Given the description of an element on the screen output the (x, y) to click on. 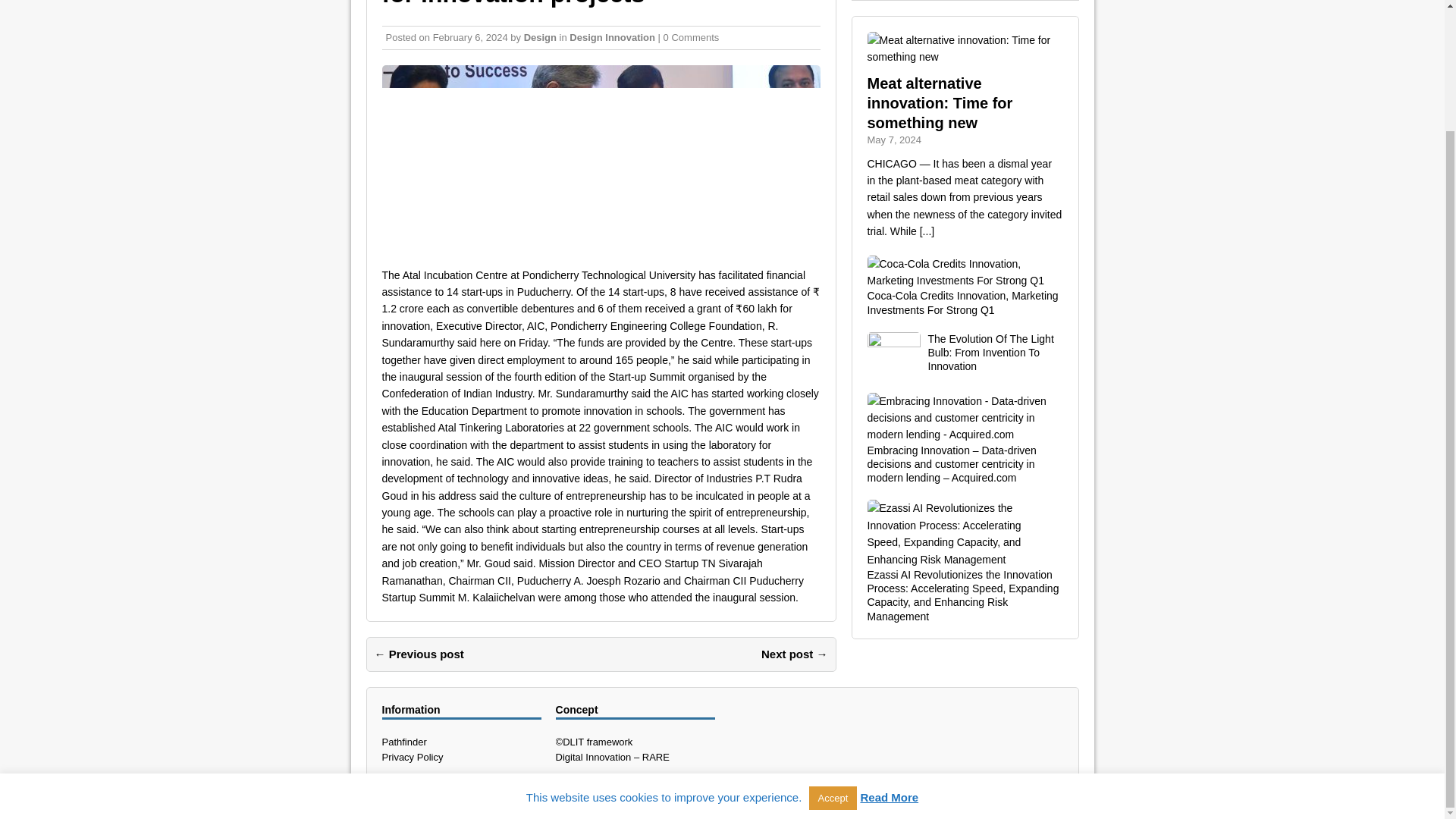
Design Innovation (612, 37)
Meat alternative innovation: Time for something new (927, 231)
Meat alternative innovation: Time for something new (940, 103)
Design (540, 37)
